Given the description of an element on the screen output the (x, y) to click on. 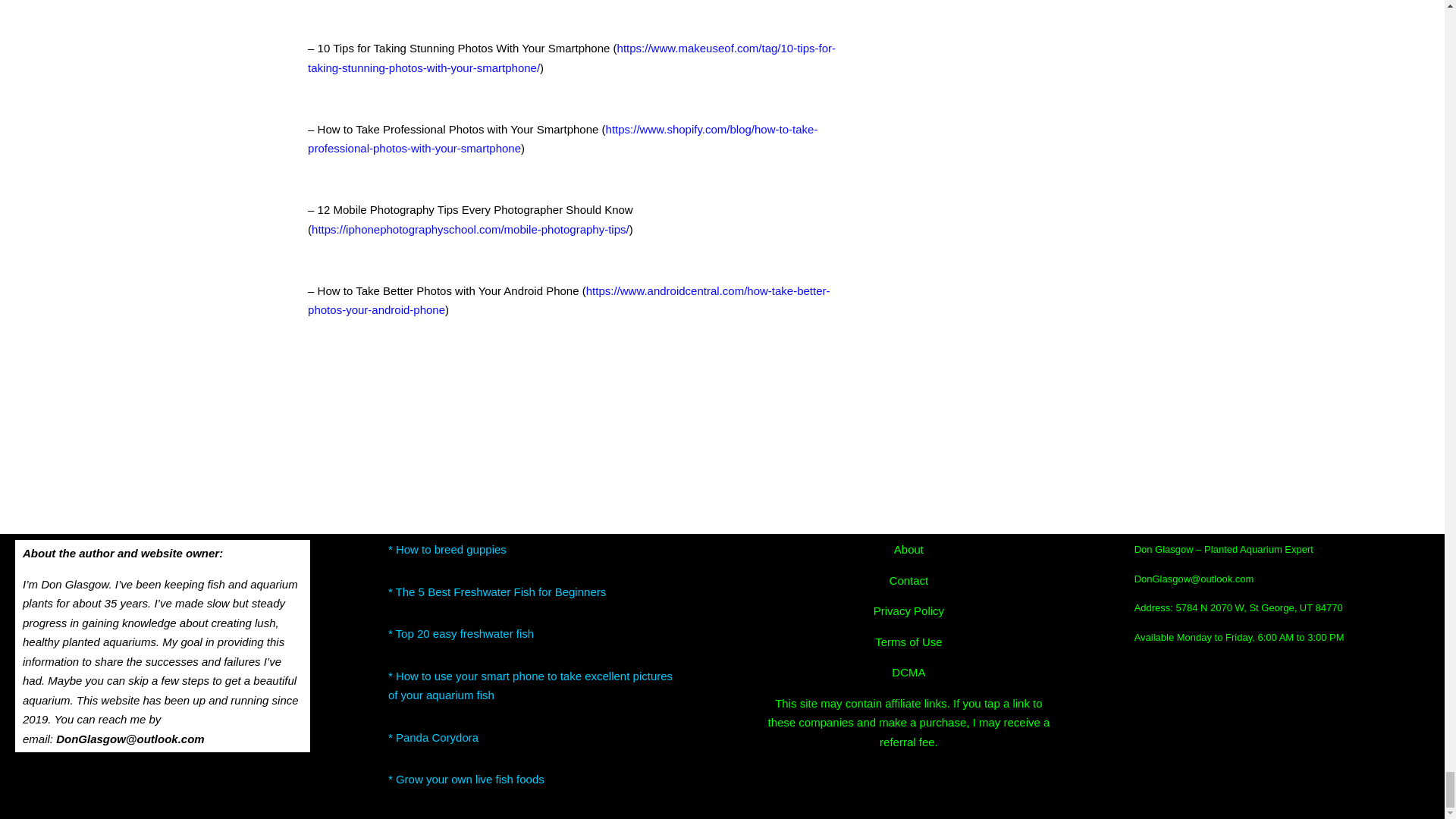
How to breed guppies (451, 549)
